Given the description of an element on the screen output the (x, y) to click on. 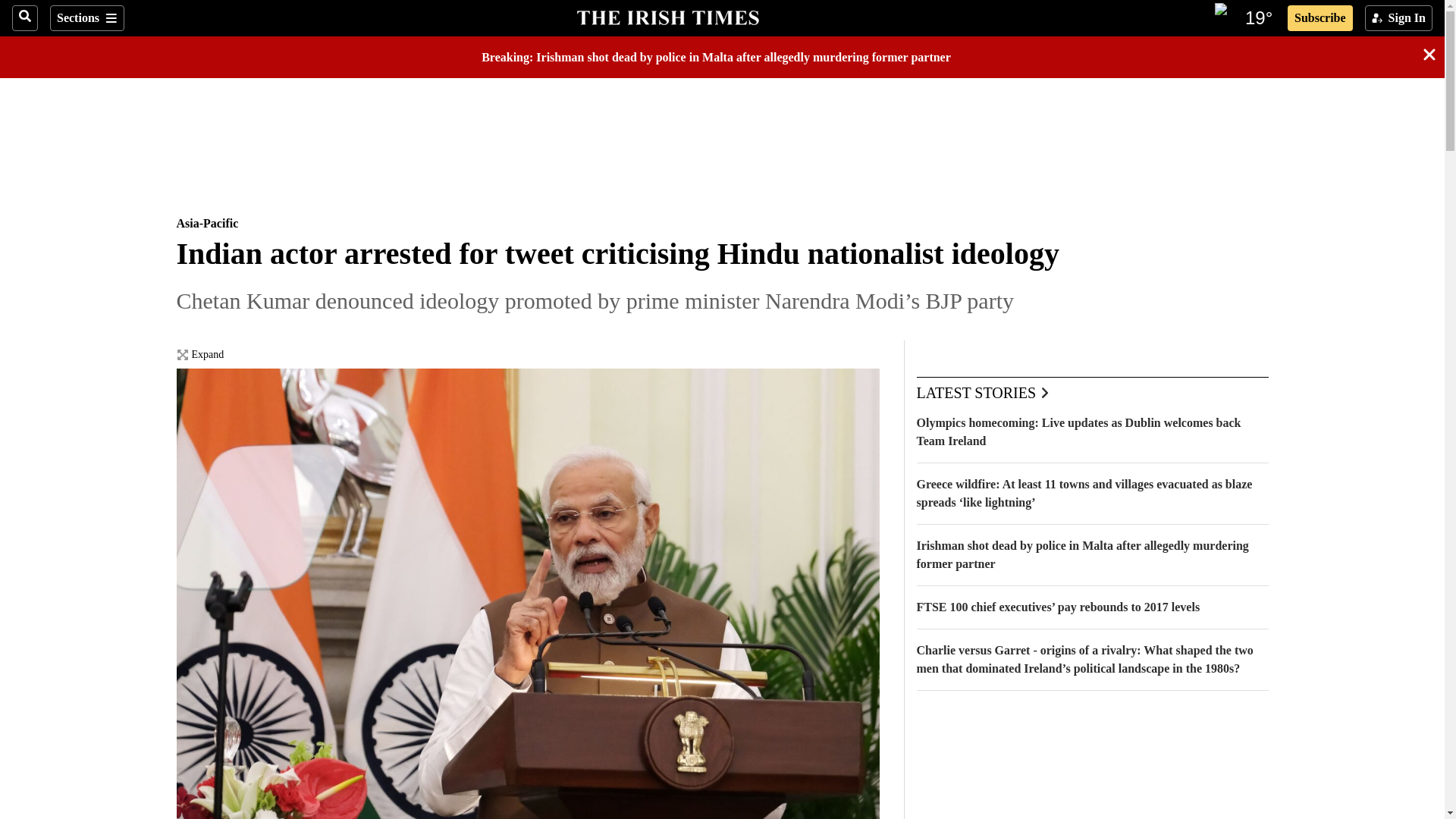
Subscribe (1319, 17)
The Irish Times (667, 16)
Sections (86, 17)
Sign In (1398, 17)
